Given the description of an element on the screen output the (x, y) to click on. 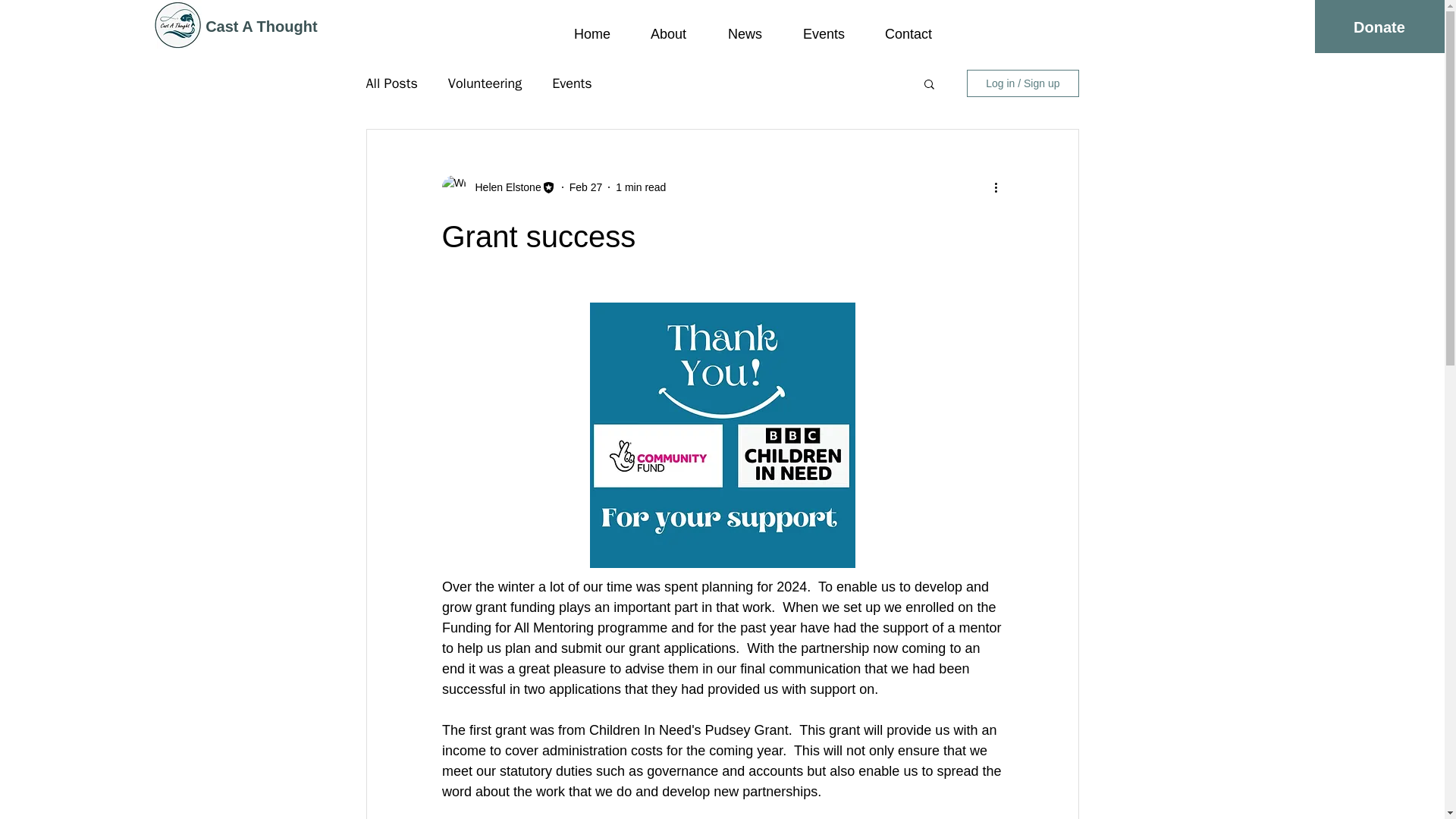
Helen Elstone (502, 186)
About (675, 27)
News (751, 27)
All Posts (390, 83)
Home (598, 27)
Contact (915, 27)
Volunteering (484, 83)
1 min read (640, 186)
Feb 27 (585, 186)
Events (829, 27)
Events (571, 83)
Donate (1378, 27)
